Given the description of an element on the screen output the (x, y) to click on. 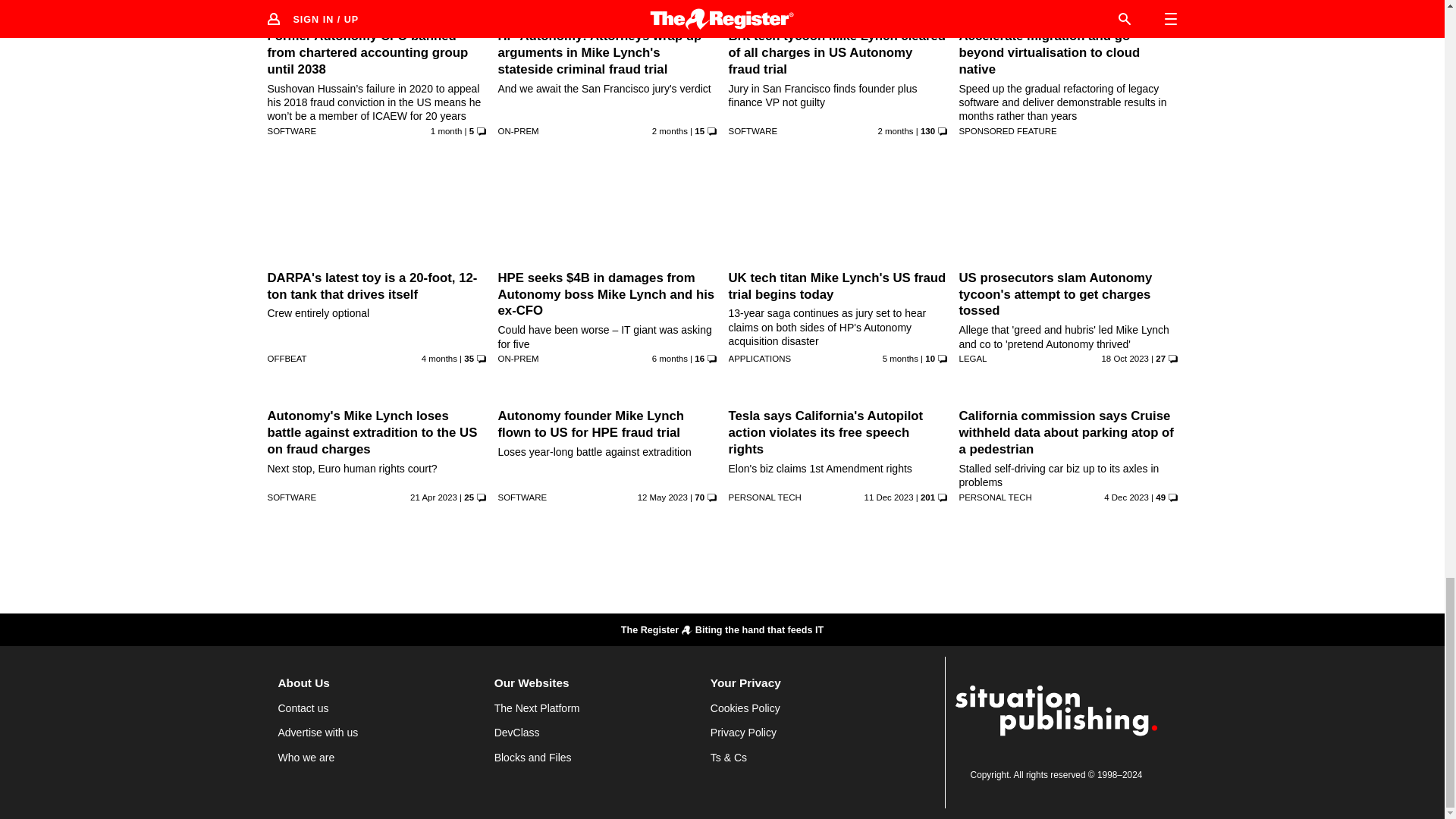
12 May 2023 12:35 (662, 497)
18 Mar 2024 15:15 (900, 358)
21 Apr 2023 19:32 (433, 497)
3 Jun 2024 22:20 (669, 130)
25 Apr 2024 15:0 (439, 358)
18 Oct 2023 11:30 (1124, 358)
6 Jun 2024 19:58 (894, 130)
11 Jul 2024 16:5 (445, 130)
12 Feb 2024 20:9 (669, 358)
